Given the description of an element on the screen output the (x, y) to click on. 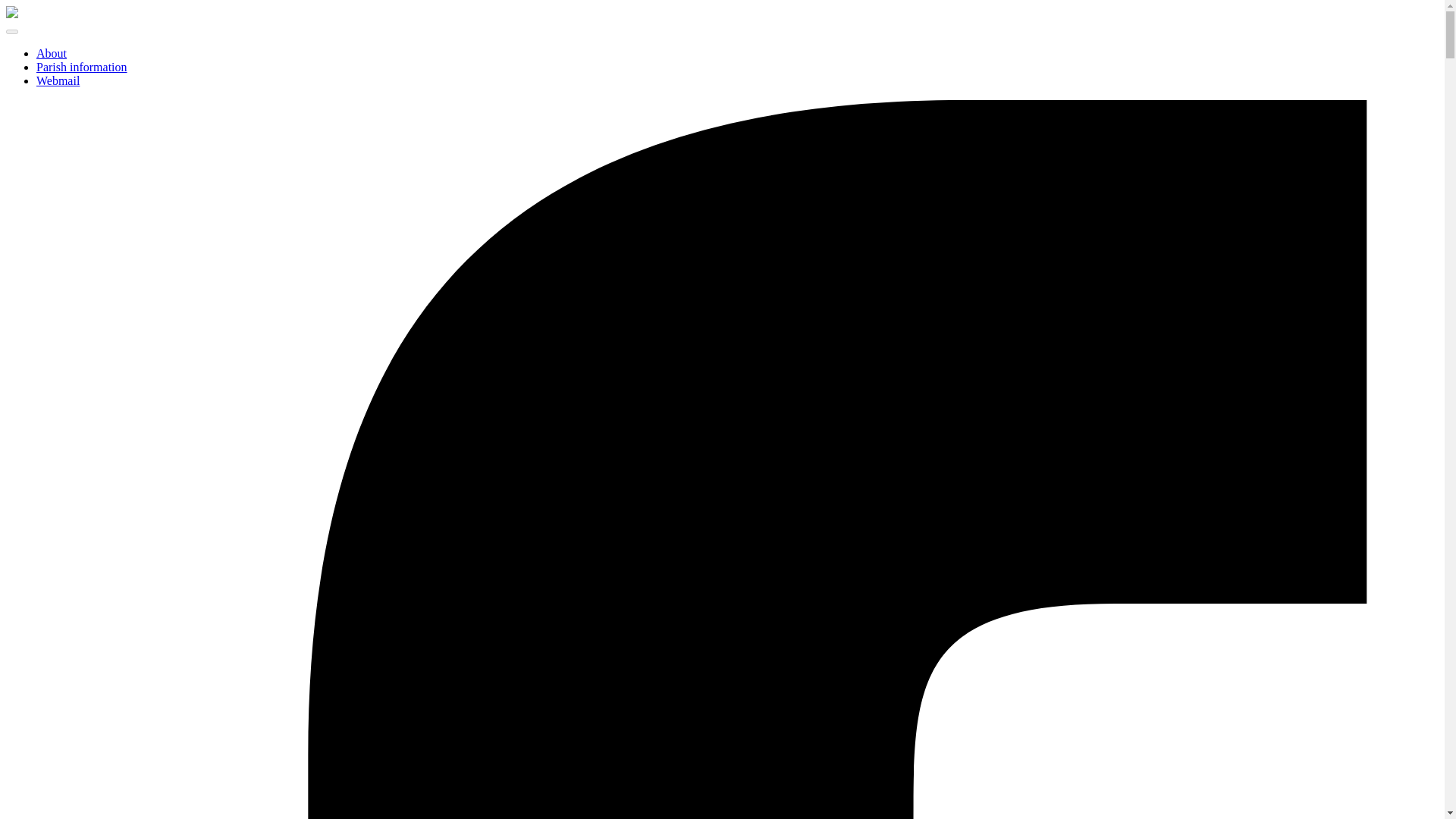
Webmail (58, 80)
About (51, 52)
Parish information (82, 66)
